Given the description of an element on the screen output the (x, y) to click on. 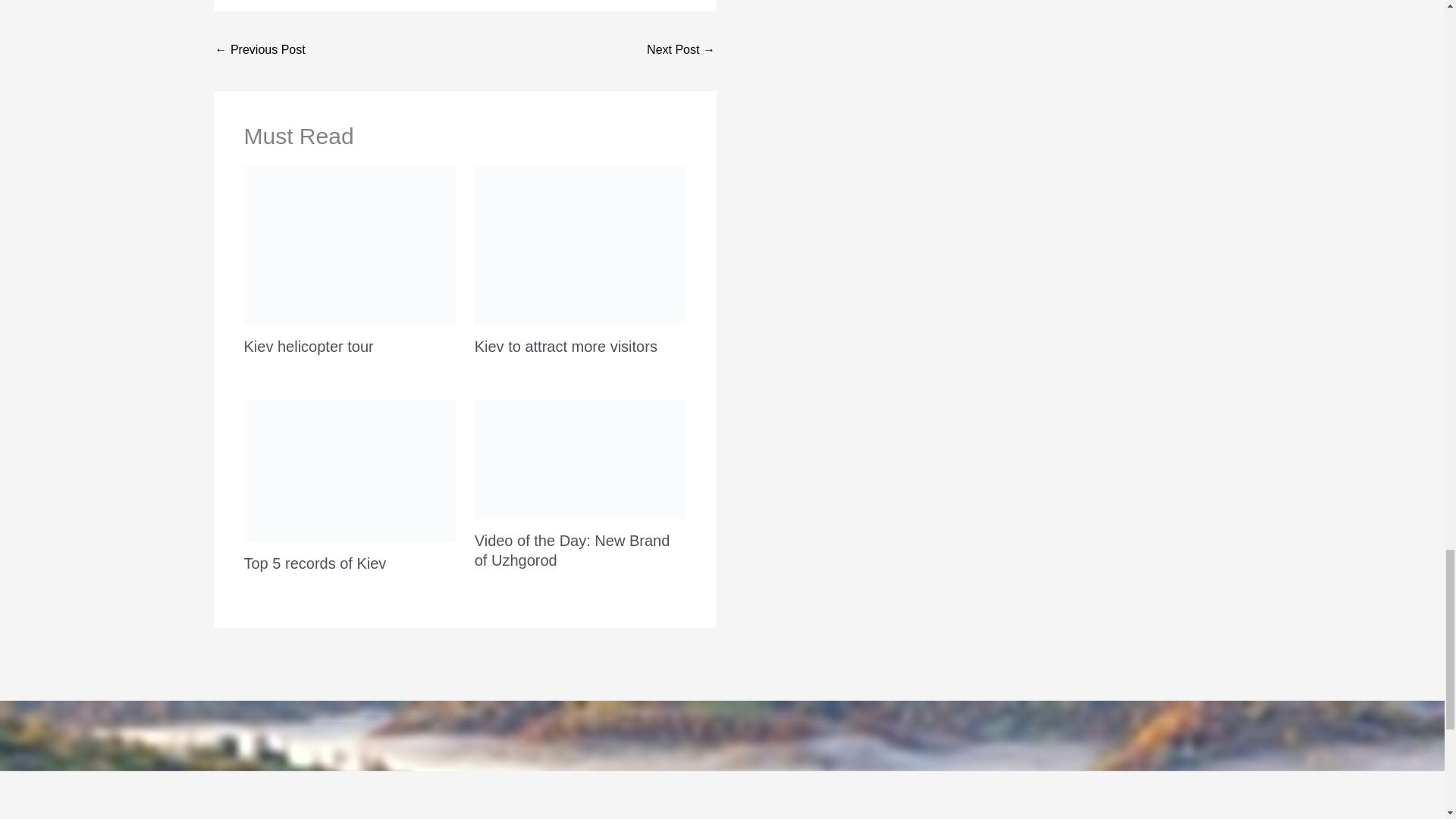
Museum of Ukrainian Cossacks Damaged in Odesa (680, 50)
Silpo Unveils Date Escape Service (260, 50)
